Given the description of an element on the screen output the (x, y) to click on. 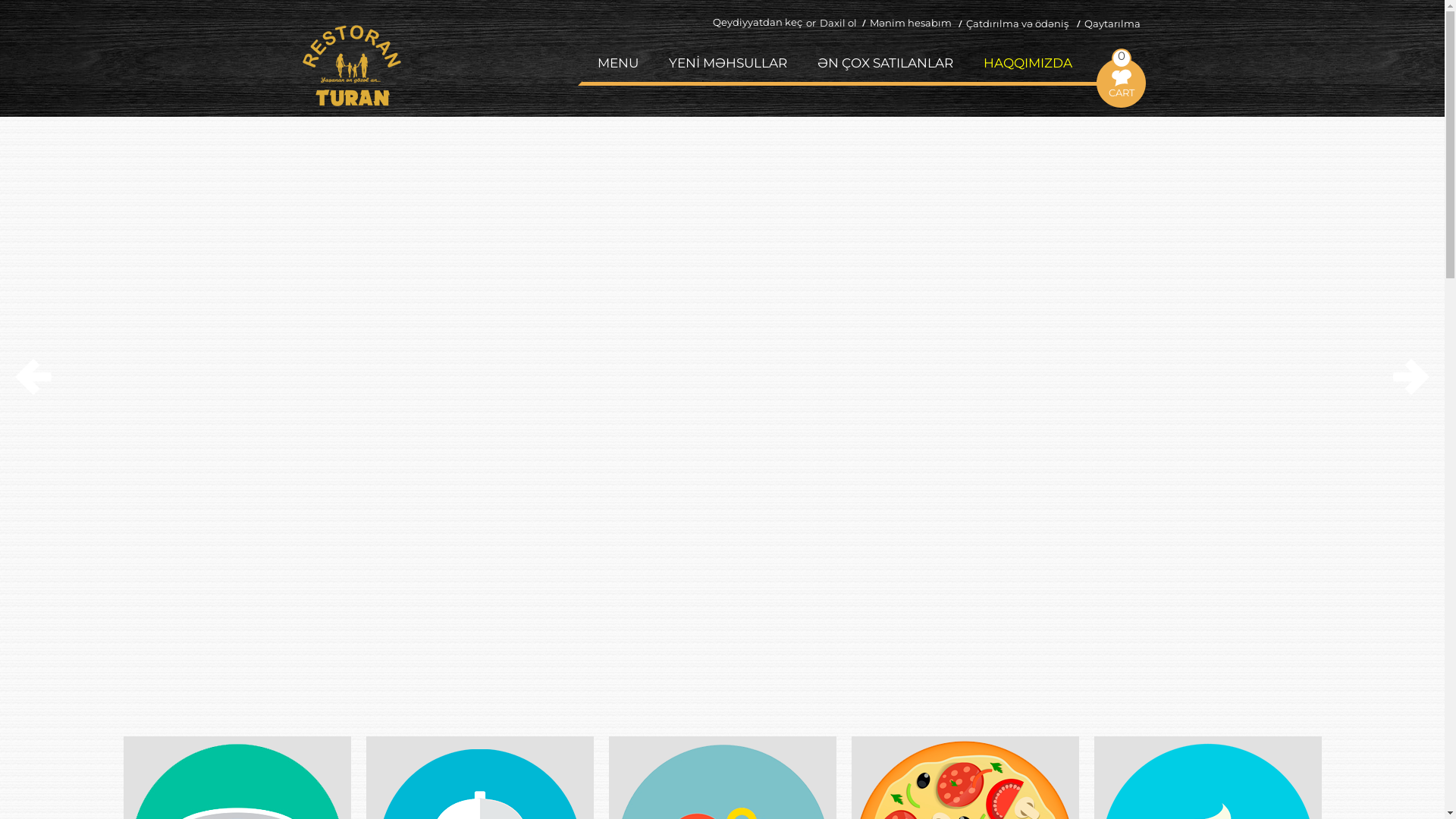
0
CART Element type: text (1121, 55)
Daxil ol Element type: text (833, 22)
HAQQIMIZDA Element type: text (1027, 62)
MENU Element type: text (617, 62)
